Given the description of an element on the screen output the (x, y) to click on. 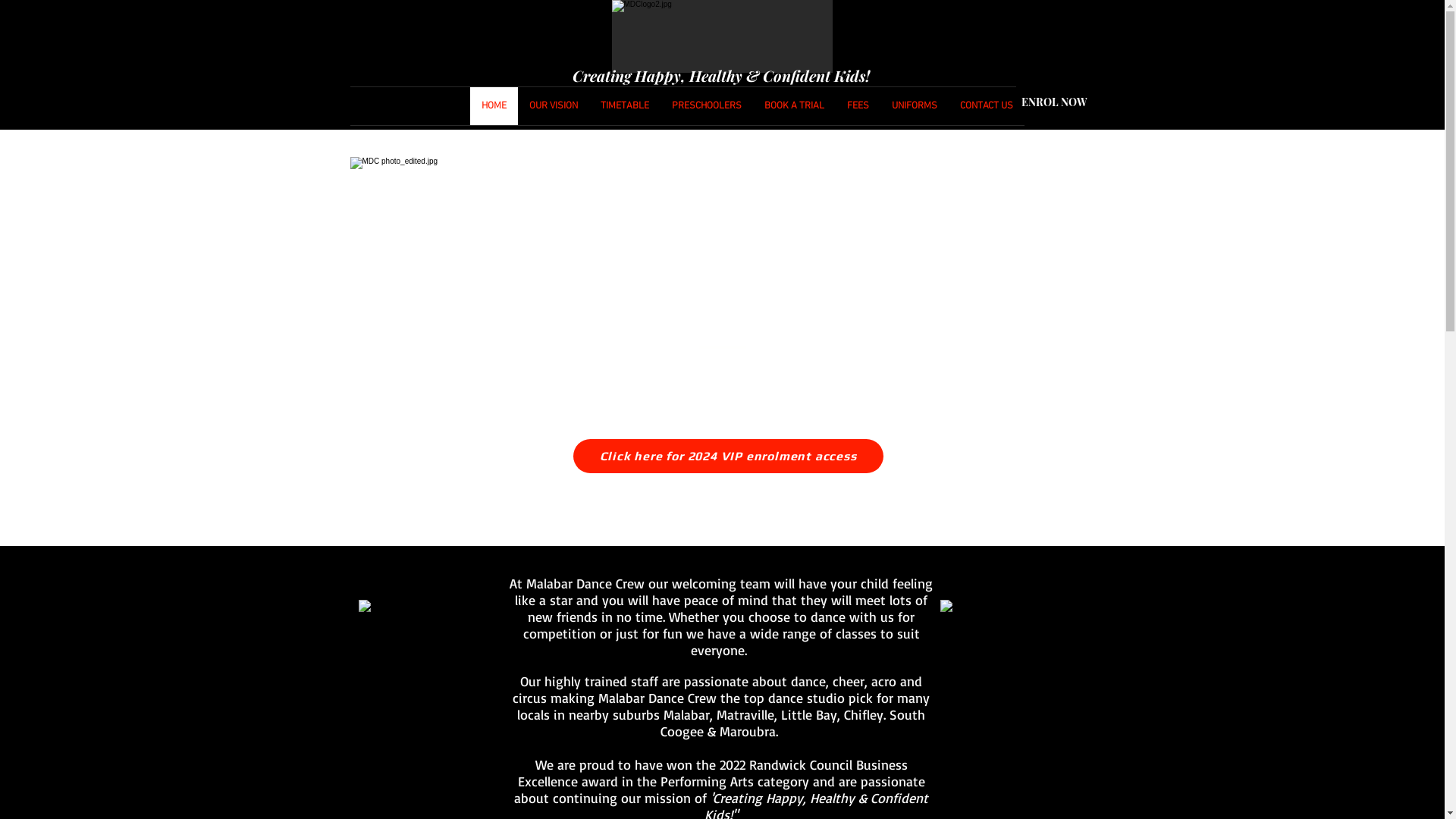
BOOK A TRIAL Element type: text (793, 106)
HOME Element type: text (493, 106)
PRESCHOOLERS Element type: text (705, 106)
TIMETABLE Element type: text (623, 106)
FEES Element type: text (857, 106)
CONTACT US Element type: text (985, 106)
OUR VISION Element type: text (552, 106)
ENROL NOW Element type: text (1054, 101)
Click here for 2024 VIP enrolment access Element type: text (728, 456)
UNIFORMS Element type: text (913, 106)
